Given the description of an element on the screen output the (x, y) to click on. 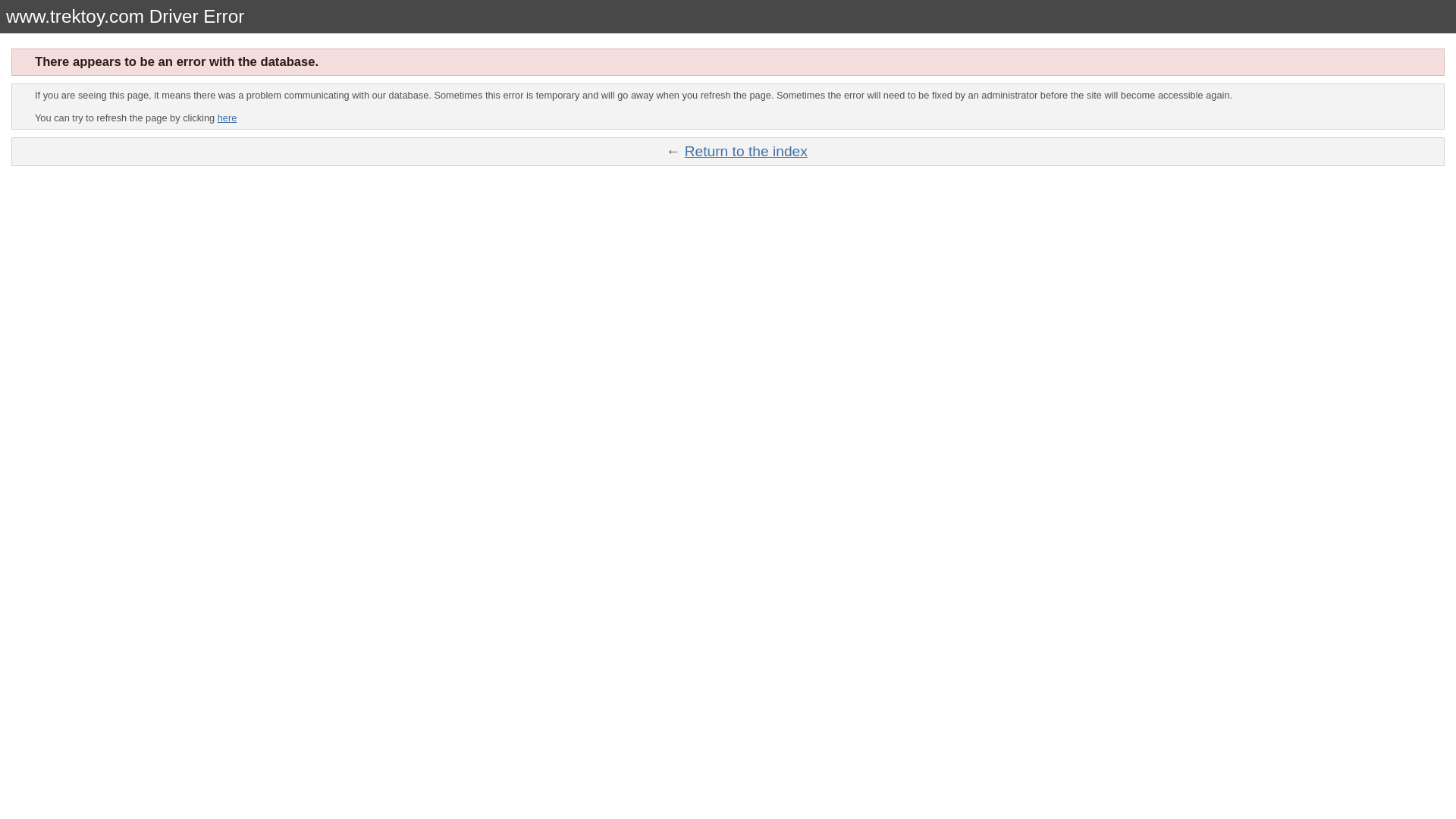
here (226, 117)
Go to home page (746, 150)
Return to the index (746, 150)
